Given the description of an element on the screen output the (x, y) to click on. 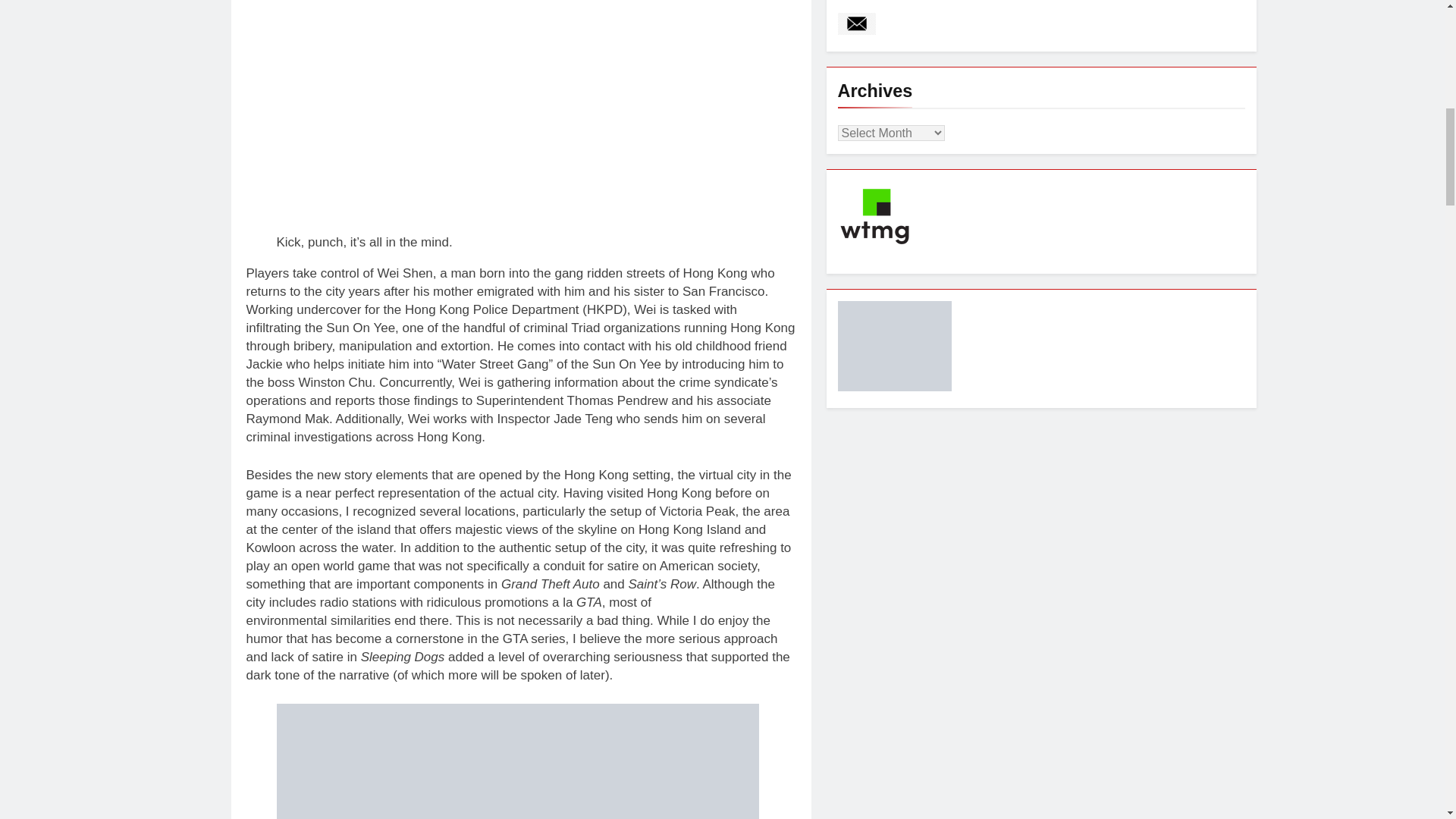
Sleeping-Dogs-41 (518, 116)
sleeping dogs (517, 761)
Contact us (856, 24)
